Given the description of an element on the screen output the (x, y) to click on. 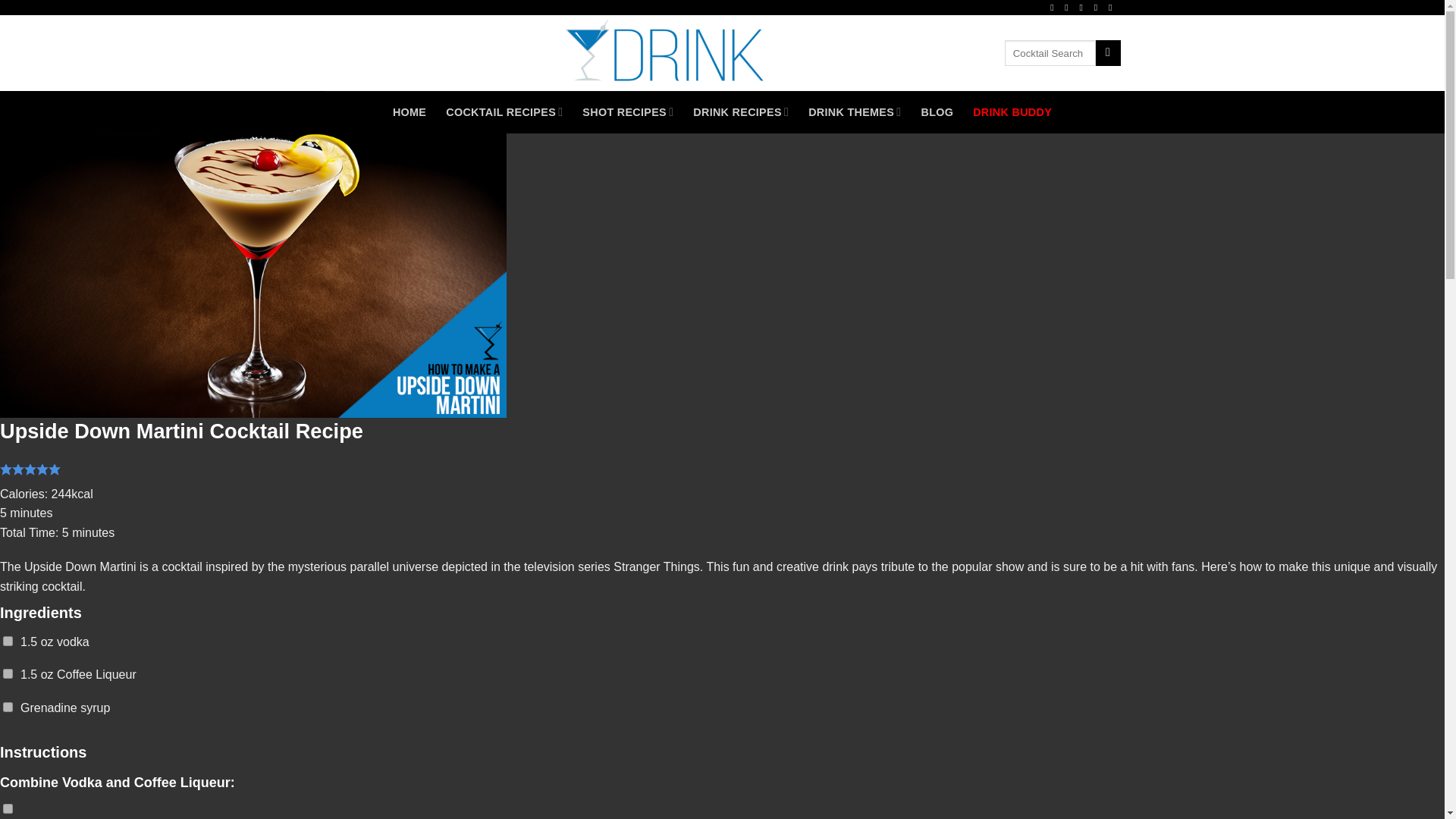
on (7, 641)
DRINK THEMES (854, 111)
on (7, 706)
COCKTAIL RECIPES (503, 111)
SHOT RECIPES (627, 111)
on (7, 808)
on (7, 673)
DRINK RECIPES (741, 111)
